Given the description of an element on the screen output the (x, y) to click on. 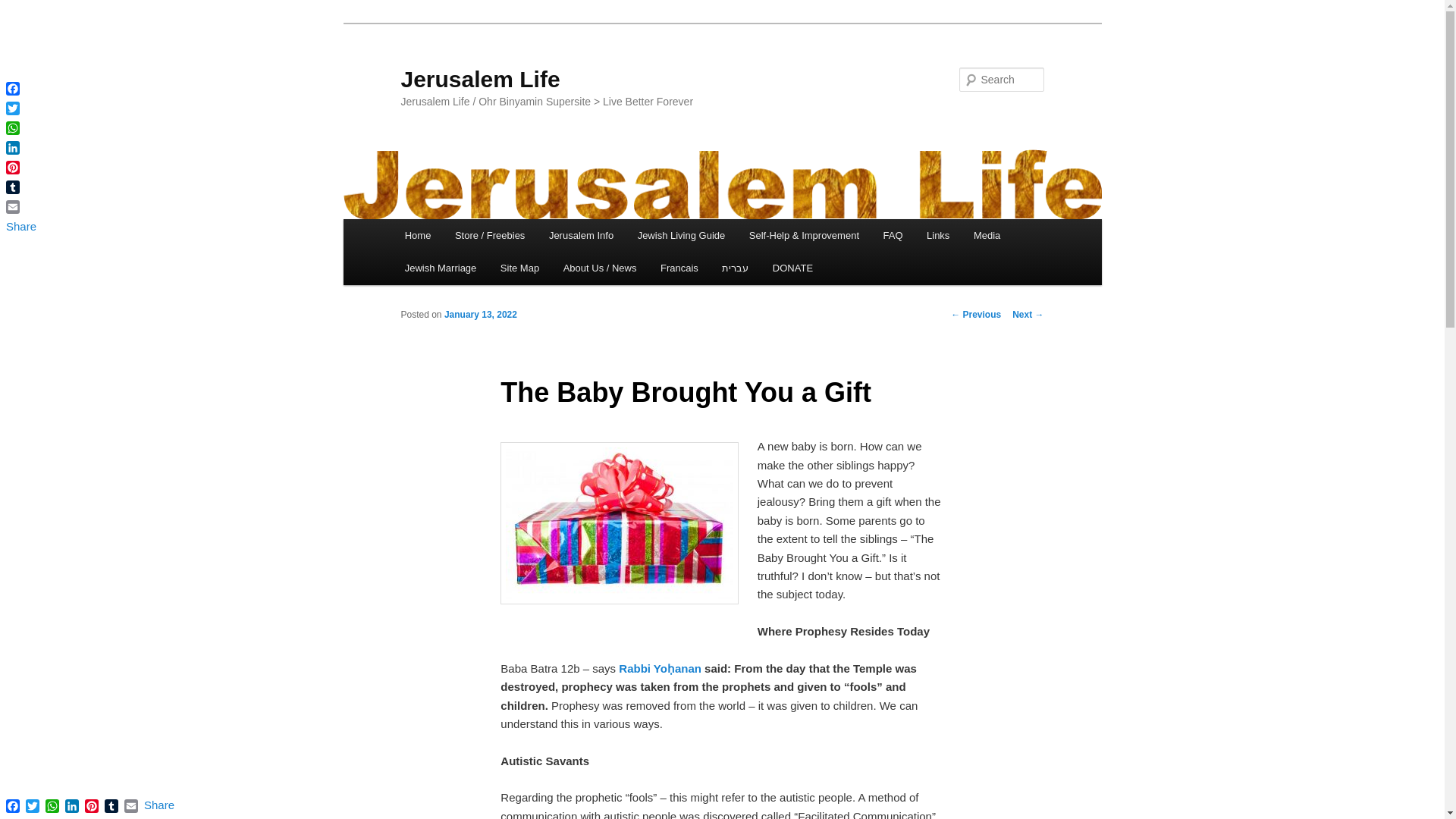
Facebook (20, 88)
Search (24, 8)
Home (417, 235)
FAQ (892, 235)
Jerusalem Life (479, 78)
Jewish Living Guide (681, 235)
1:13 am (480, 314)
Jerusalem Info (581, 235)
Twitter (20, 107)
